Given the description of an element on the screen output the (x, y) to click on. 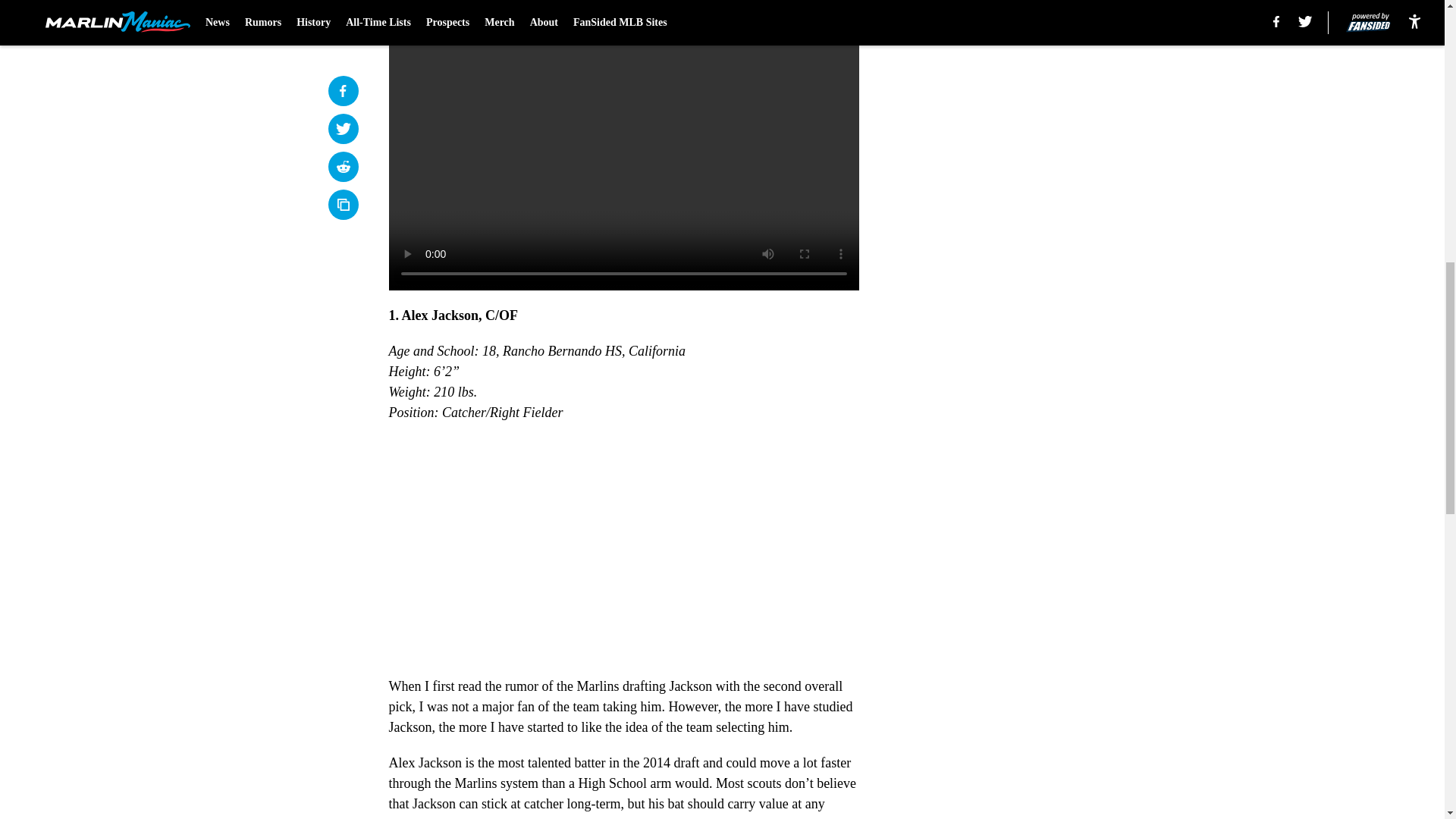
Prev (433, 5)
3rd party ad content (1047, 84)
Next (813, 5)
3rd party ad content (1047, 294)
